Given the description of an element on the screen output the (x, y) to click on. 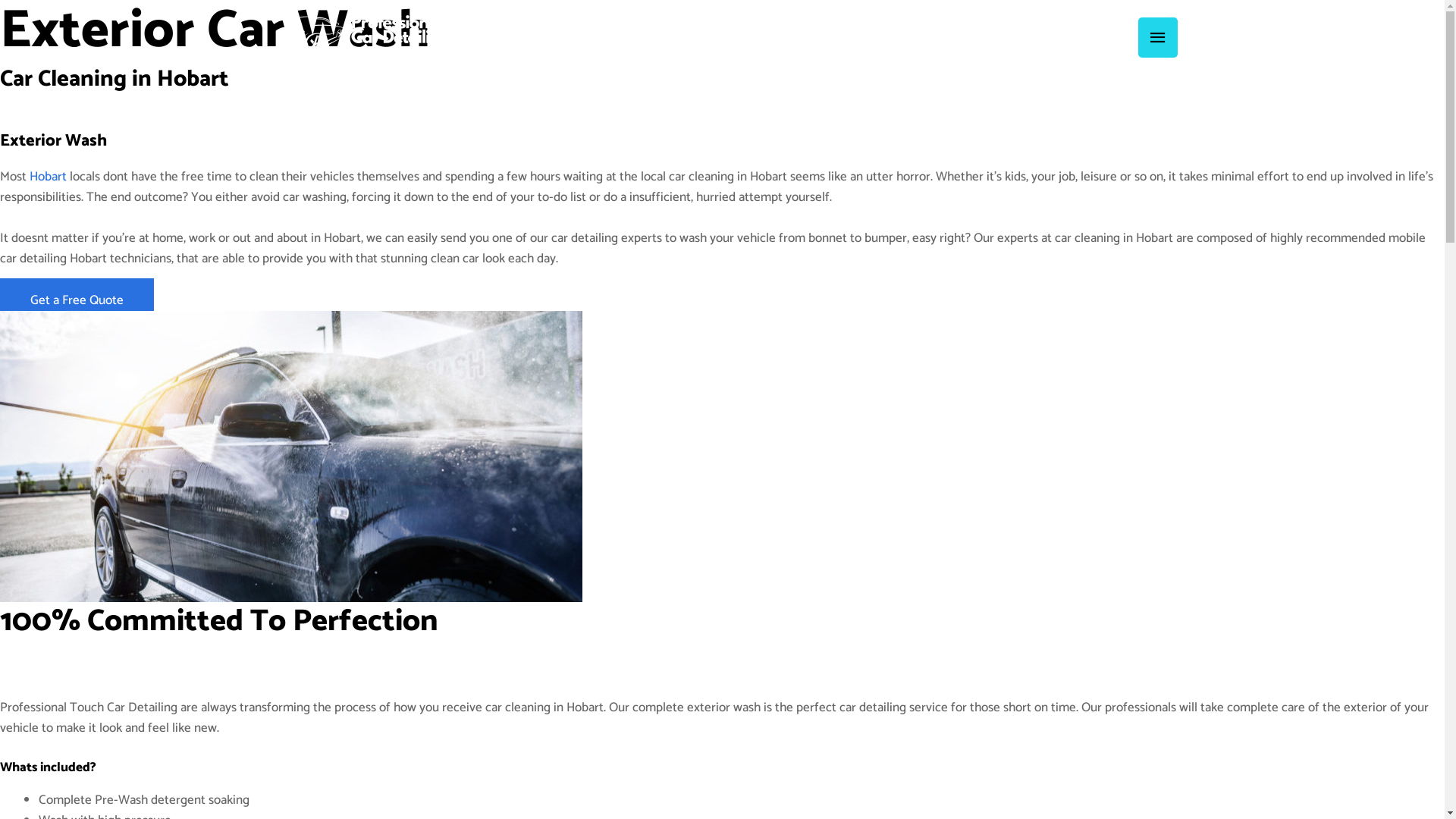
Hobart Element type: text (47, 176)
Main Menu Element type: text (1157, 37)
Get a Free Quote Element type: text (76, 300)
